Given the description of an element on the screen output the (x, y) to click on. 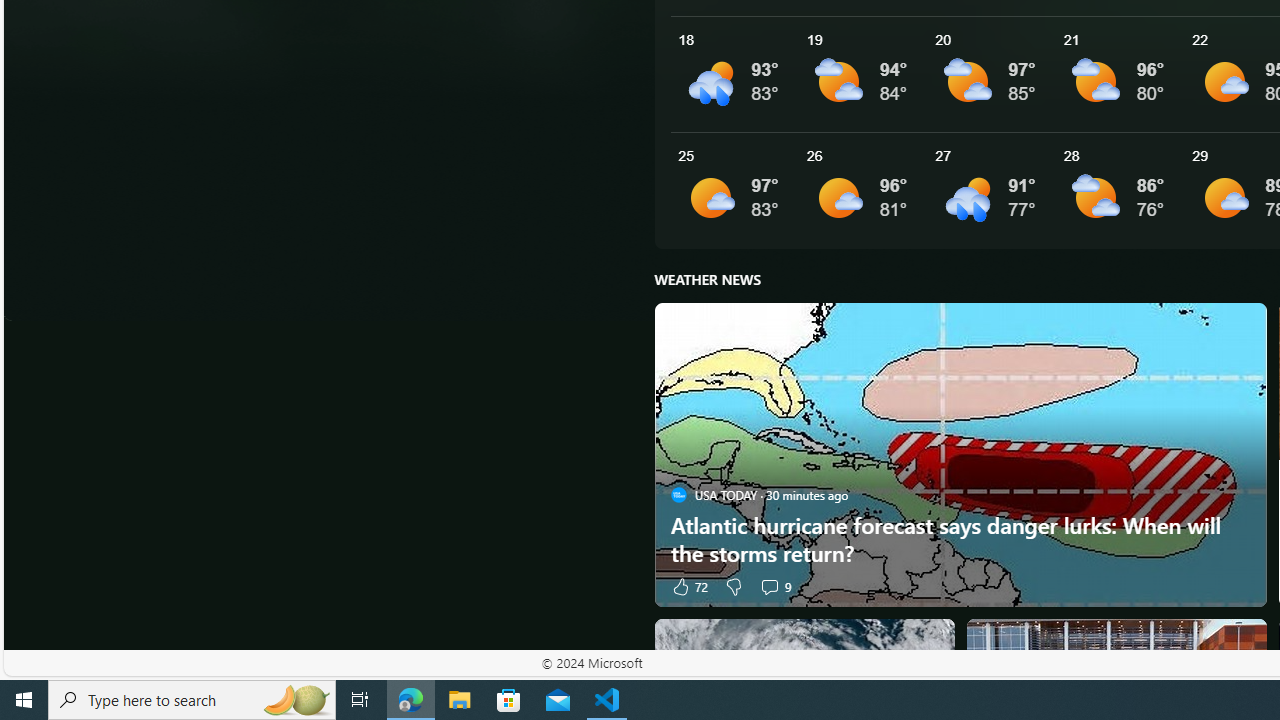
72 Like (688, 586)
View comments 9 Comment (774, 586)
USA TODAY (678, 494)
View comments 9 Comment (769, 586)
